Given the description of an element on the screen output the (x, y) to click on. 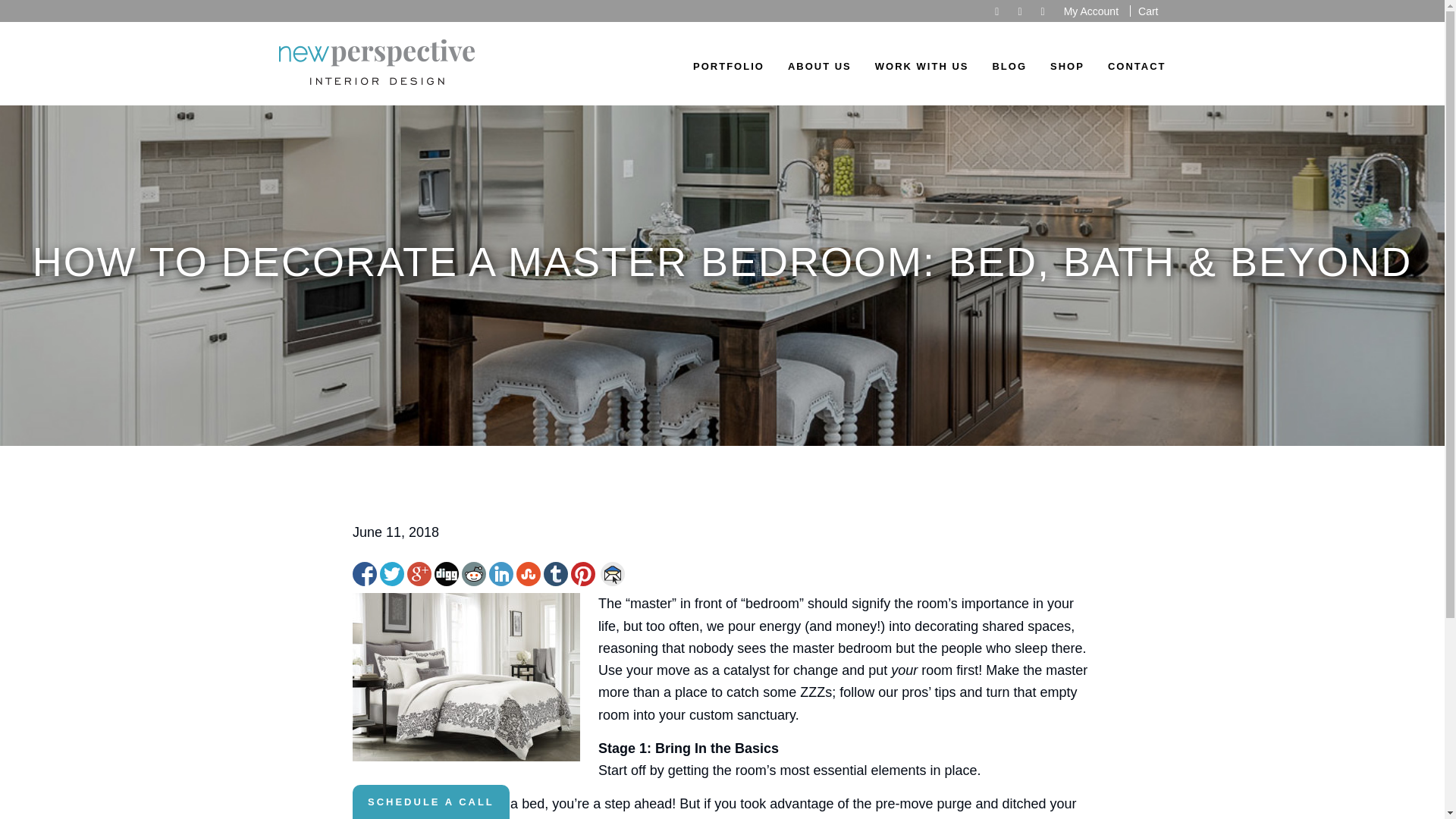
SCHEDULE A CALL (430, 801)
CONTACT (1133, 74)
WORK WITH US (918, 74)
PORTFOLIO (724, 74)
Cart (1148, 10)
My Account (1091, 10)
ABOUT US (815, 74)
